Given the description of an element on the screen output the (x, y) to click on. 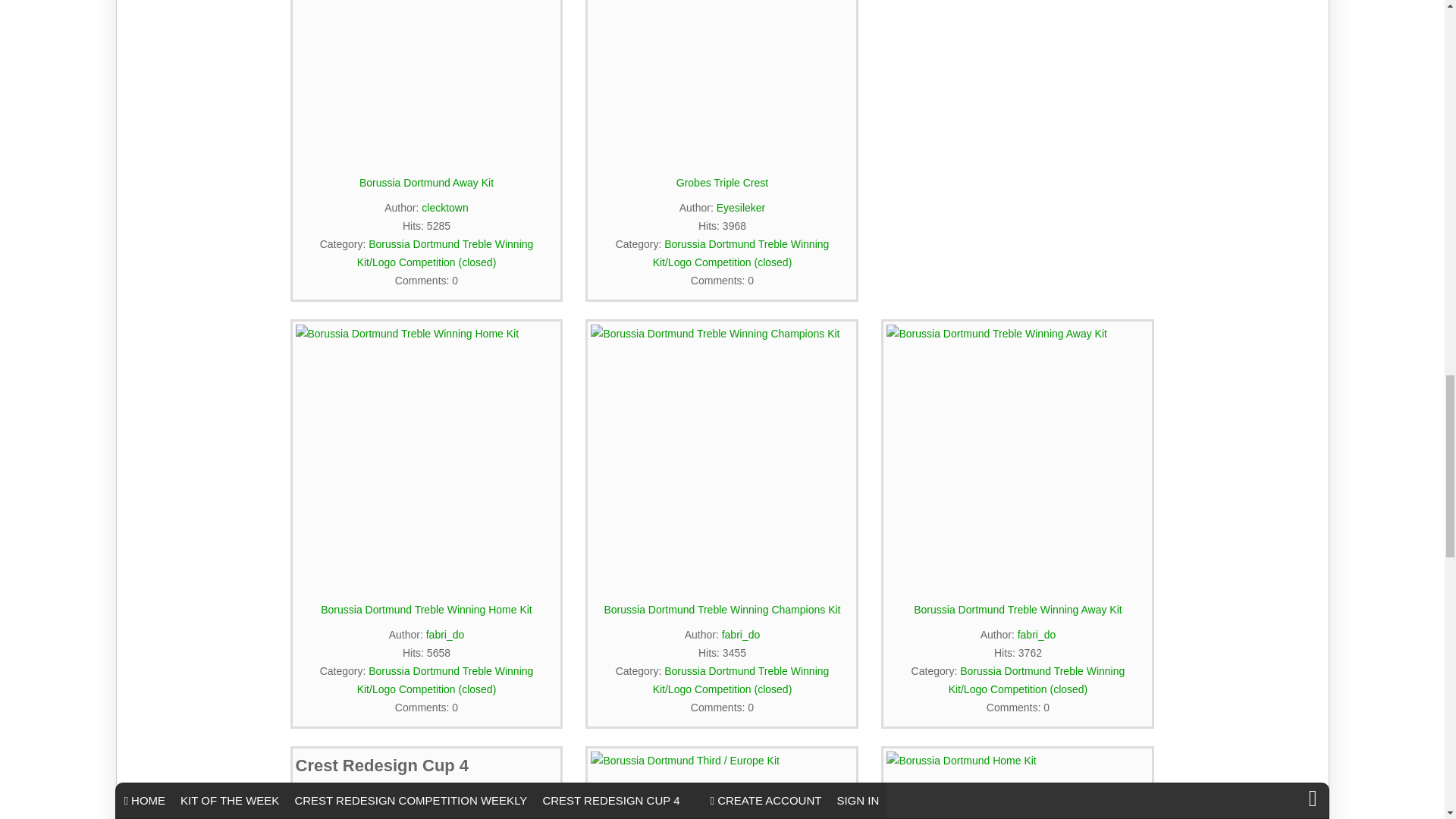
Borussia Dortmund Treble Winning Away Kit (1017, 455)
Borussia Dortmund Treble Winning Home Kit (426, 455)
Grobes Triple Crest  (722, 80)
clecktown (444, 207)
Eyesileker (740, 207)
Borussia Dortmund Treble Winning Champions Kit (722, 455)
Borussia Dortmund Away Kit (426, 80)
